Given the description of an element on the screen output the (x, y) to click on. 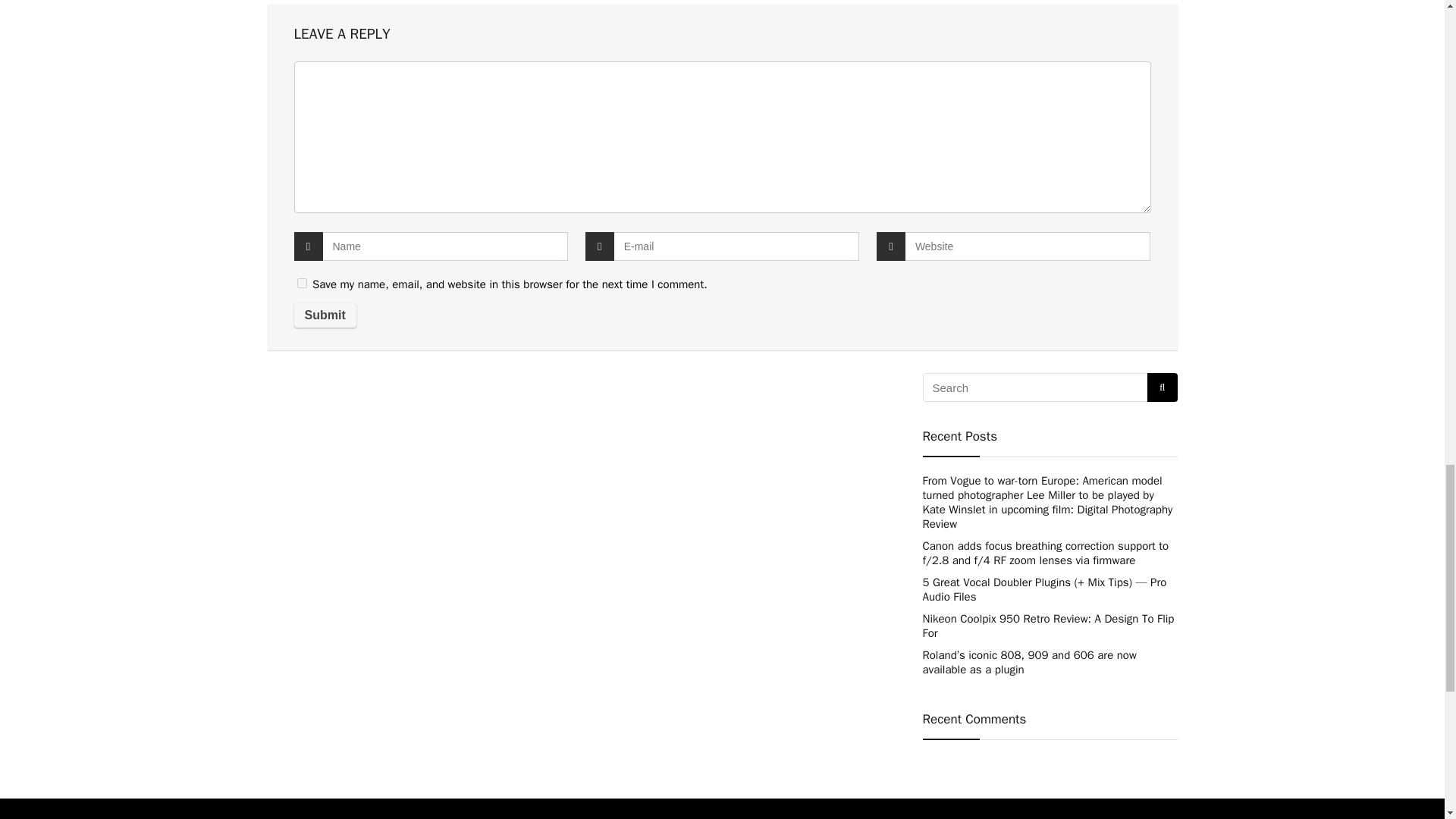
Submit (325, 315)
yes (302, 283)
Nikeon Coolpix 950 Retro Review: A Design To Flip For (1047, 625)
Submit (325, 315)
